Given the description of an element on the screen output the (x, y) to click on. 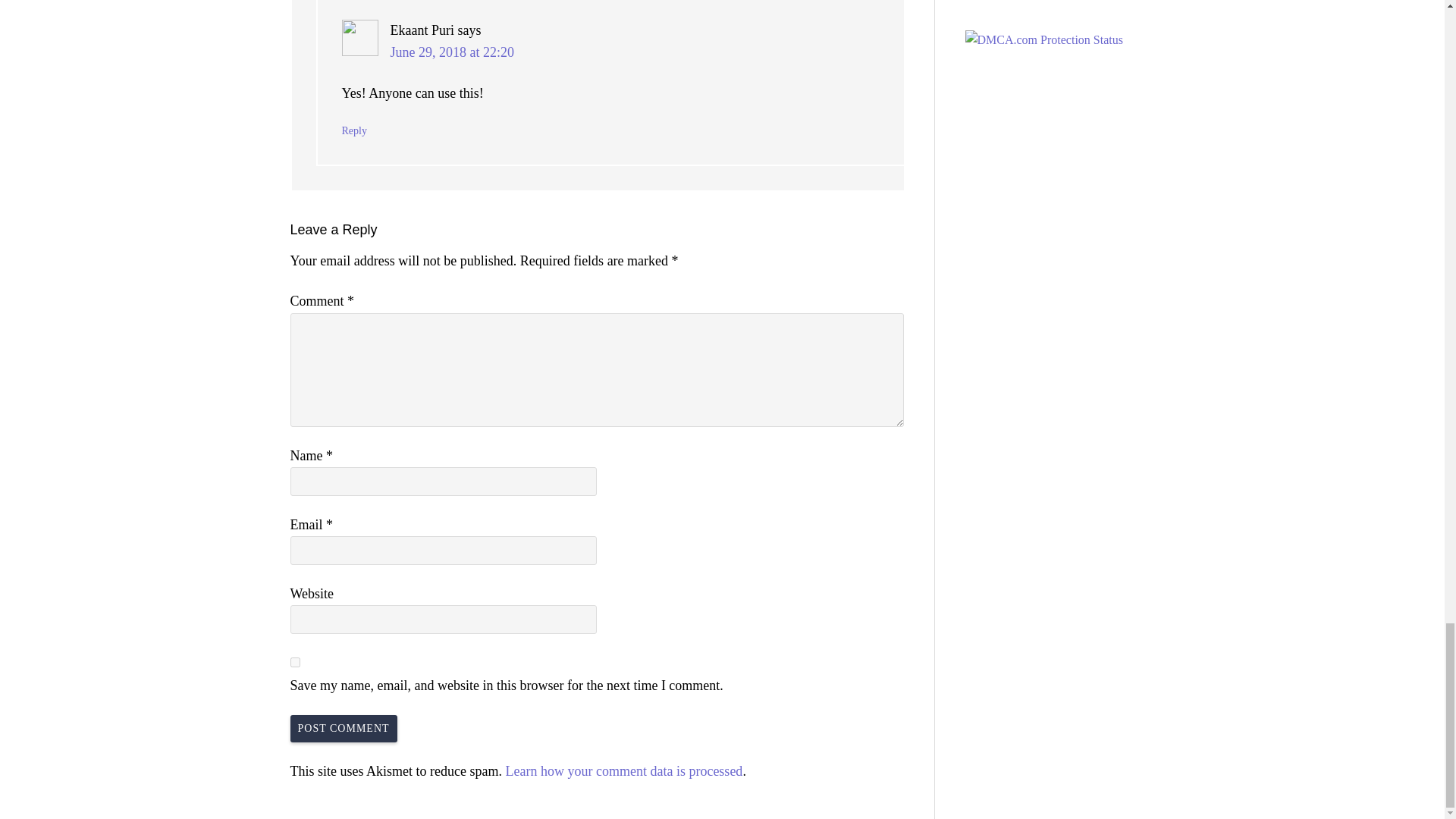
Reply (353, 130)
June 29, 2018 at 22:20 (451, 52)
Post Comment (342, 728)
Post Comment (342, 728)
yes (294, 662)
Learn how your comment data is processed (623, 770)
